Given the description of an element on the screen output the (x, y) to click on. 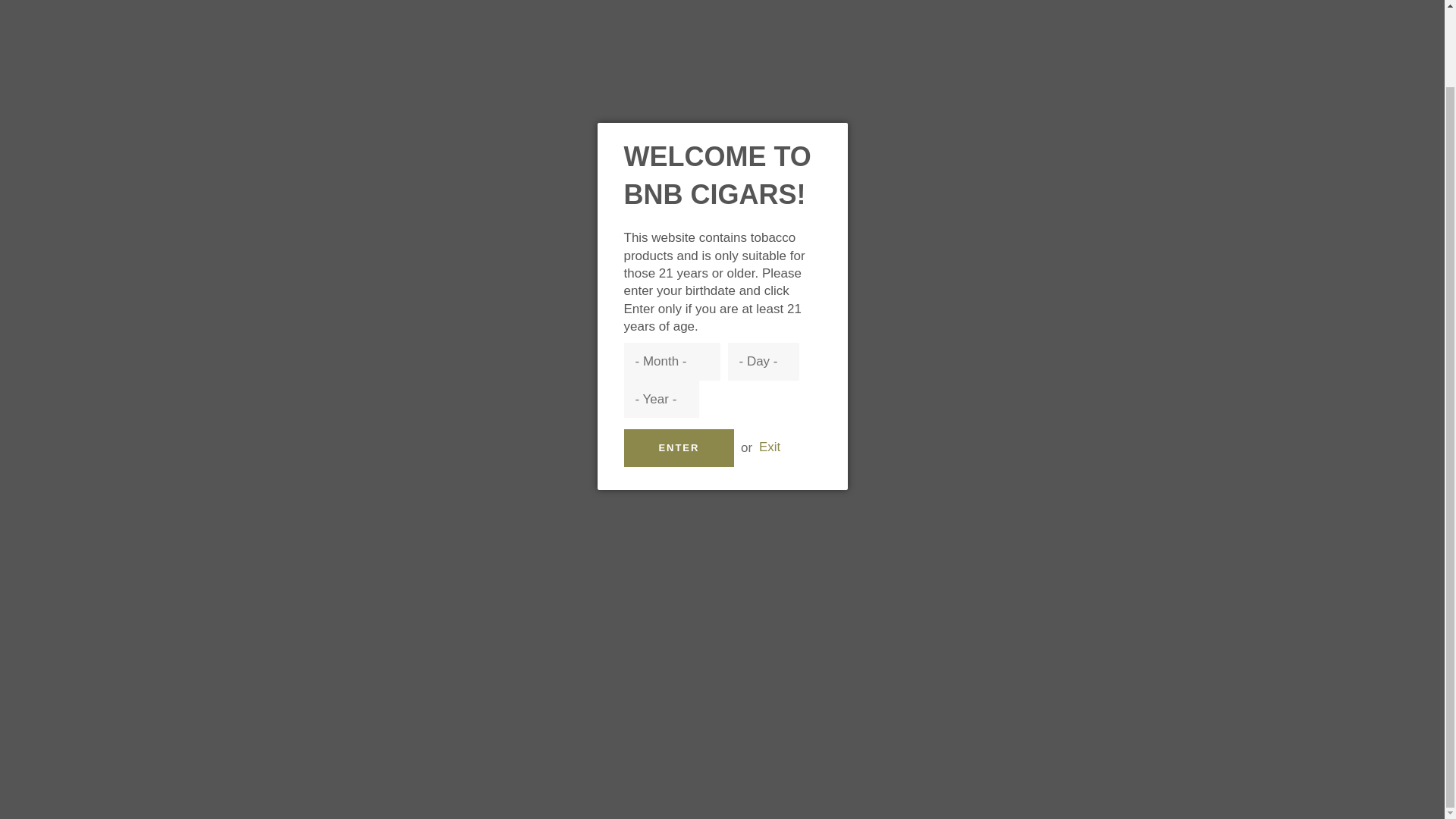
BnB International  on Instagram (1125, 625)
BnB International  on Facebook (1067, 625)
BnB International  on Twitter (1096, 625)
ENTER (678, 361)
SHOP (310, 52)
BEST SELLERS (413, 52)
Exit (769, 360)
